Given the description of an element on the screen output the (x, y) to click on. 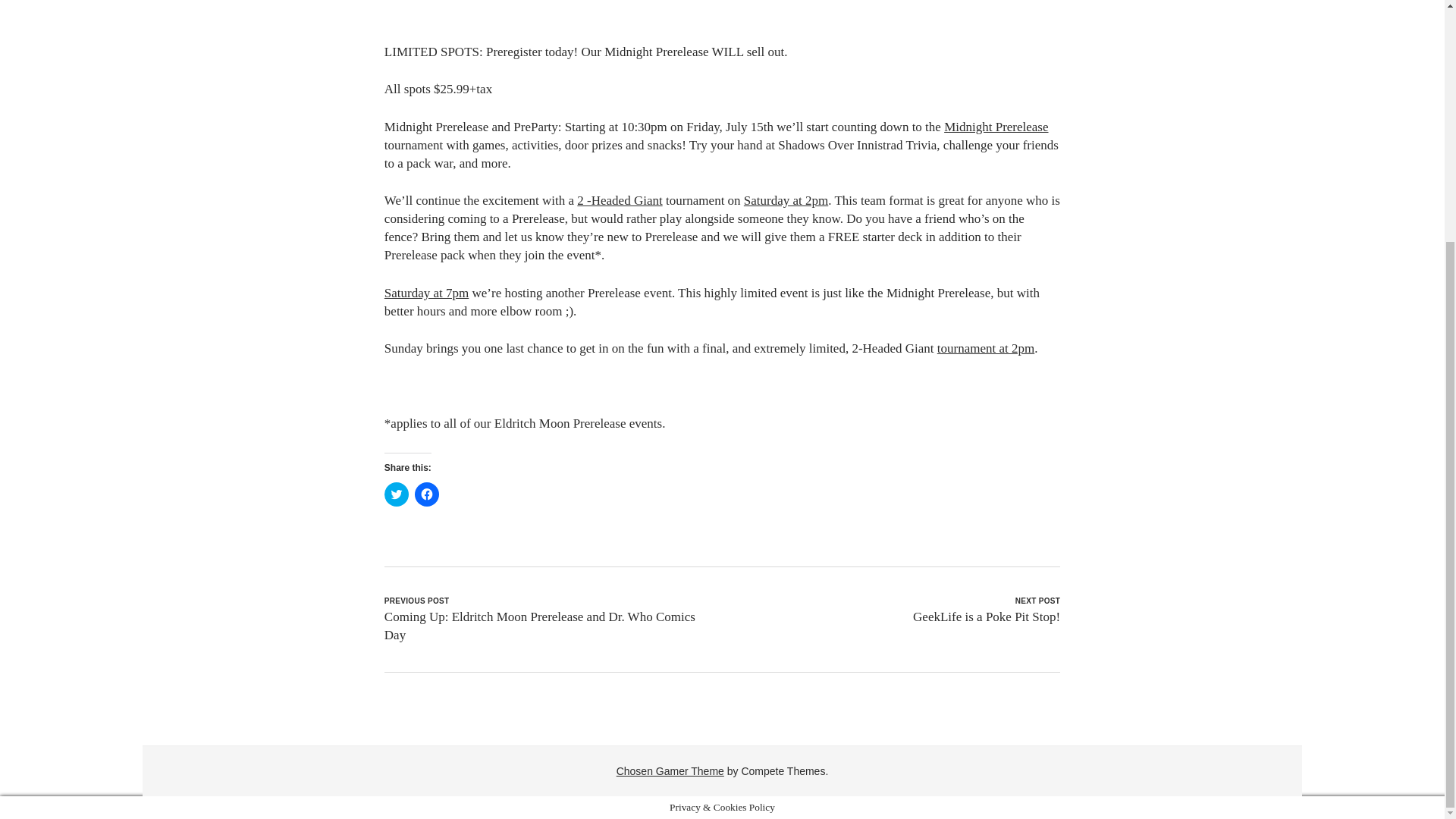
Click to share on Facebook (426, 494)
Chosen Gamer Theme (669, 770)
GeekLife is a Poke Pit Stop! (985, 616)
tournament at 2pm (985, 348)
Saturday at 2pm (786, 200)
Coming Up: Eldritch Moon Prerelease and Dr. Who Comics Day (539, 625)
2 -Headed Giant (619, 200)
Midnight Prerelease (995, 126)
Click to share on Twitter (396, 494)
Saturday at 7pm (426, 292)
